Given the description of an element on the screen output the (x, y) to click on. 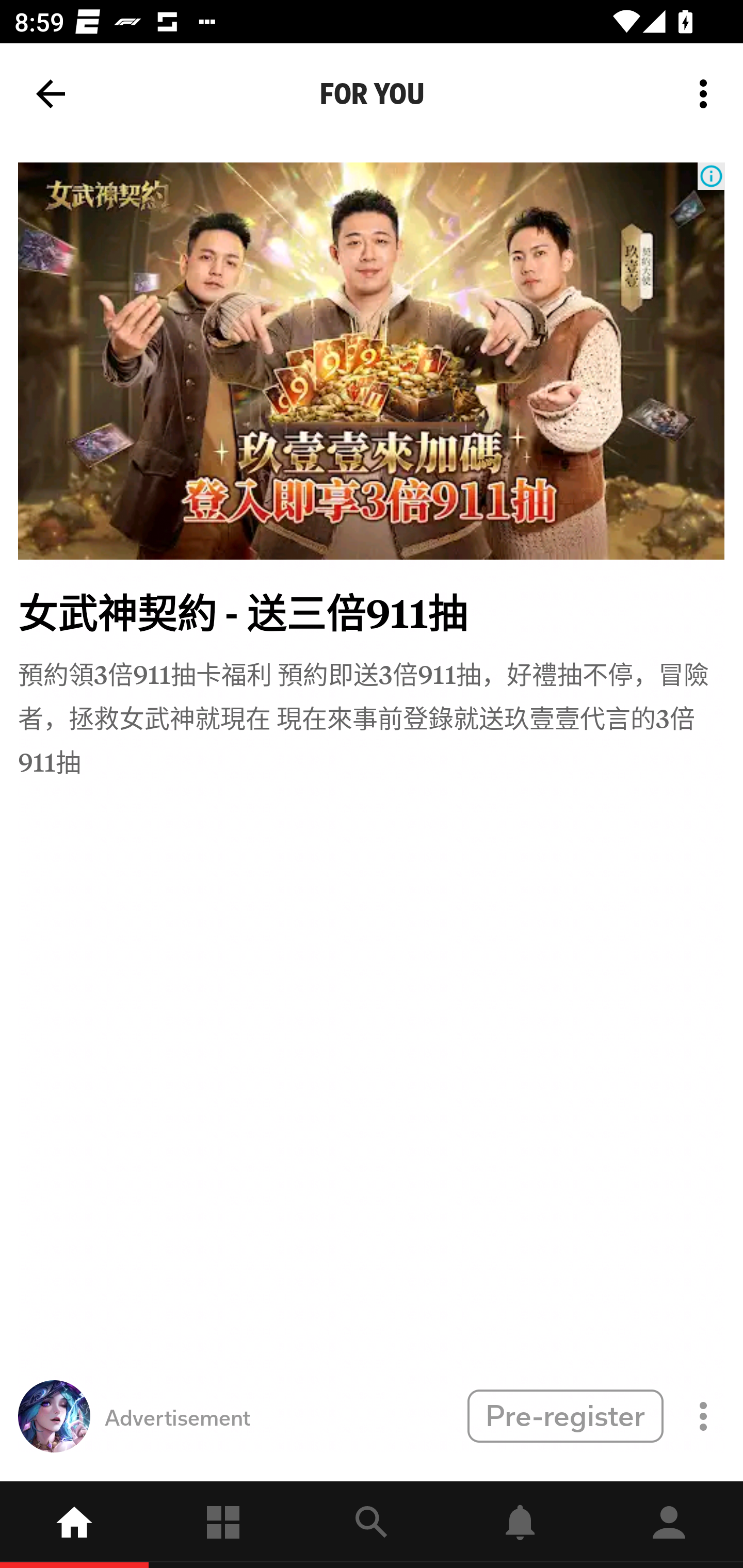
Back (50, 93)
FOR YOU (371, 93)
More options (706, 93)
Ad Choices Icon (711, 176)
Pre-register (565, 1415)
home (74, 1524)
Following (222, 1524)
explore (371, 1524)
Notifications (519, 1524)
Profile (668, 1524)
